Given the description of an element on the screen output the (x, y) to click on. 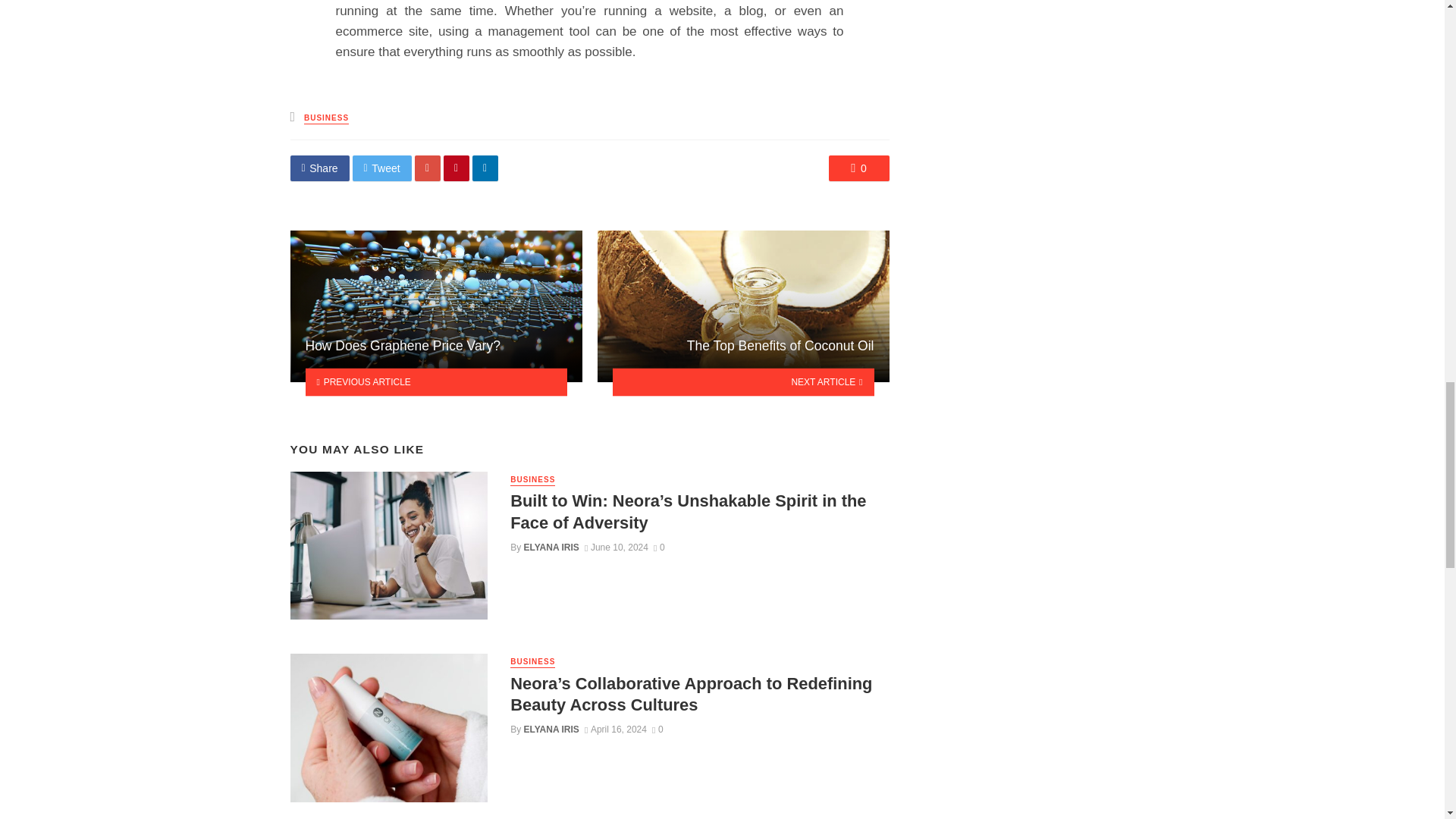
0 (858, 167)
BUSINESS (326, 118)
PREVIOUS ARTICLE (434, 381)
June 10, 2024 at 6:01 am (616, 547)
Tweet (382, 167)
NEXT ARTICLE (742, 381)
BUSINESS (532, 480)
Share (319, 167)
